Given the description of an element on the screen output the (x, y) to click on. 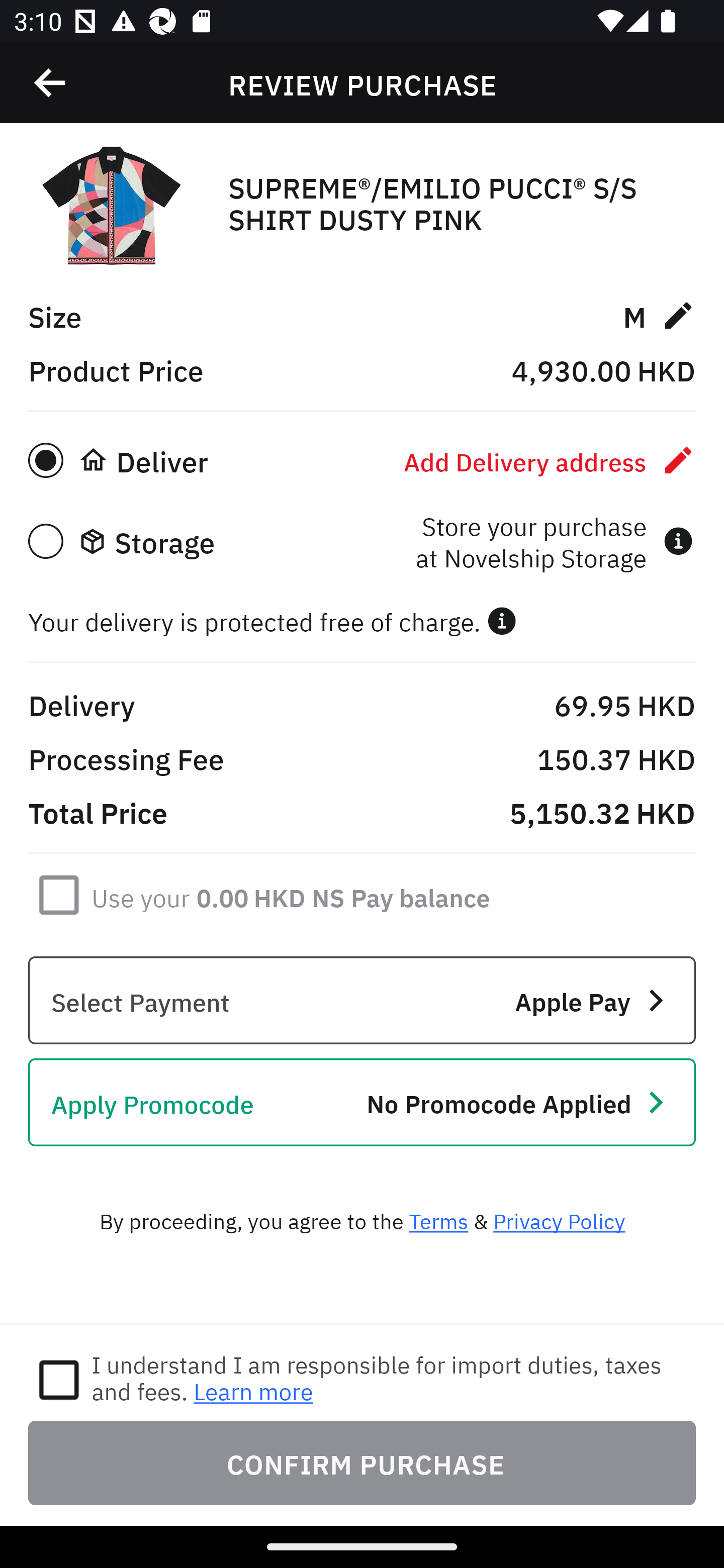
 (50, 83)
M 󰏫 (658, 314)
󰚡 Deliver Add Delivery address 󰏫 (361, 459)
Add Delivery address 󰏫 (549, 460)
Store your purchase
at Novelship Storage  (554, 540)
 (501, 620)
Use your 0.00 HKD NS Pay balance (290, 894)
Select Payment Apple Pay  (361, 1000)
Apply Promocode No Promocode Applied  (361, 1102)
 CONFIRM PURCHASE (361, 1462)
